Given the description of an element on the screen output the (x, y) to click on. 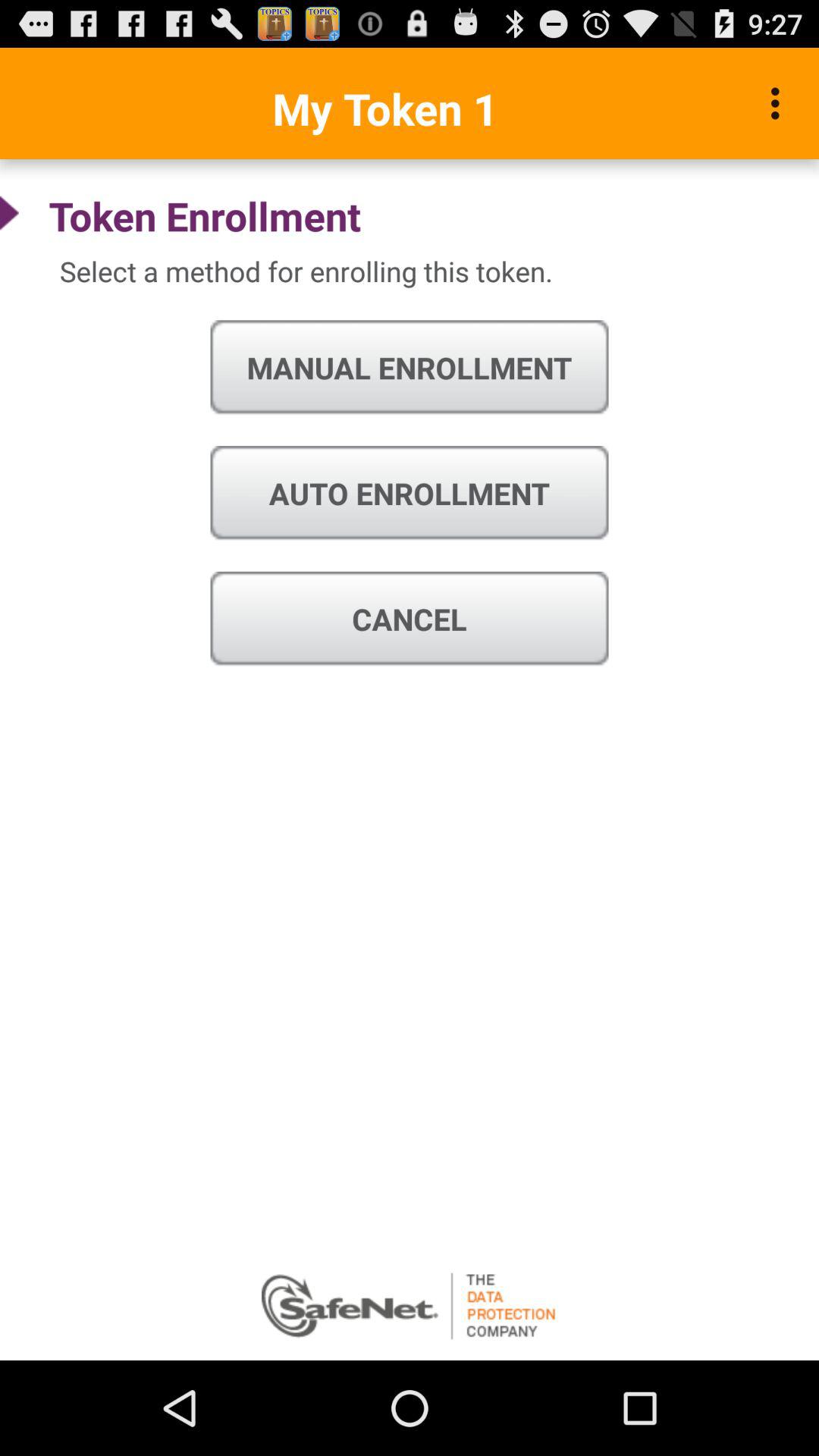
jump to manual enrollment icon (409, 367)
